Given the description of an element on the screen output the (x, y) to click on. 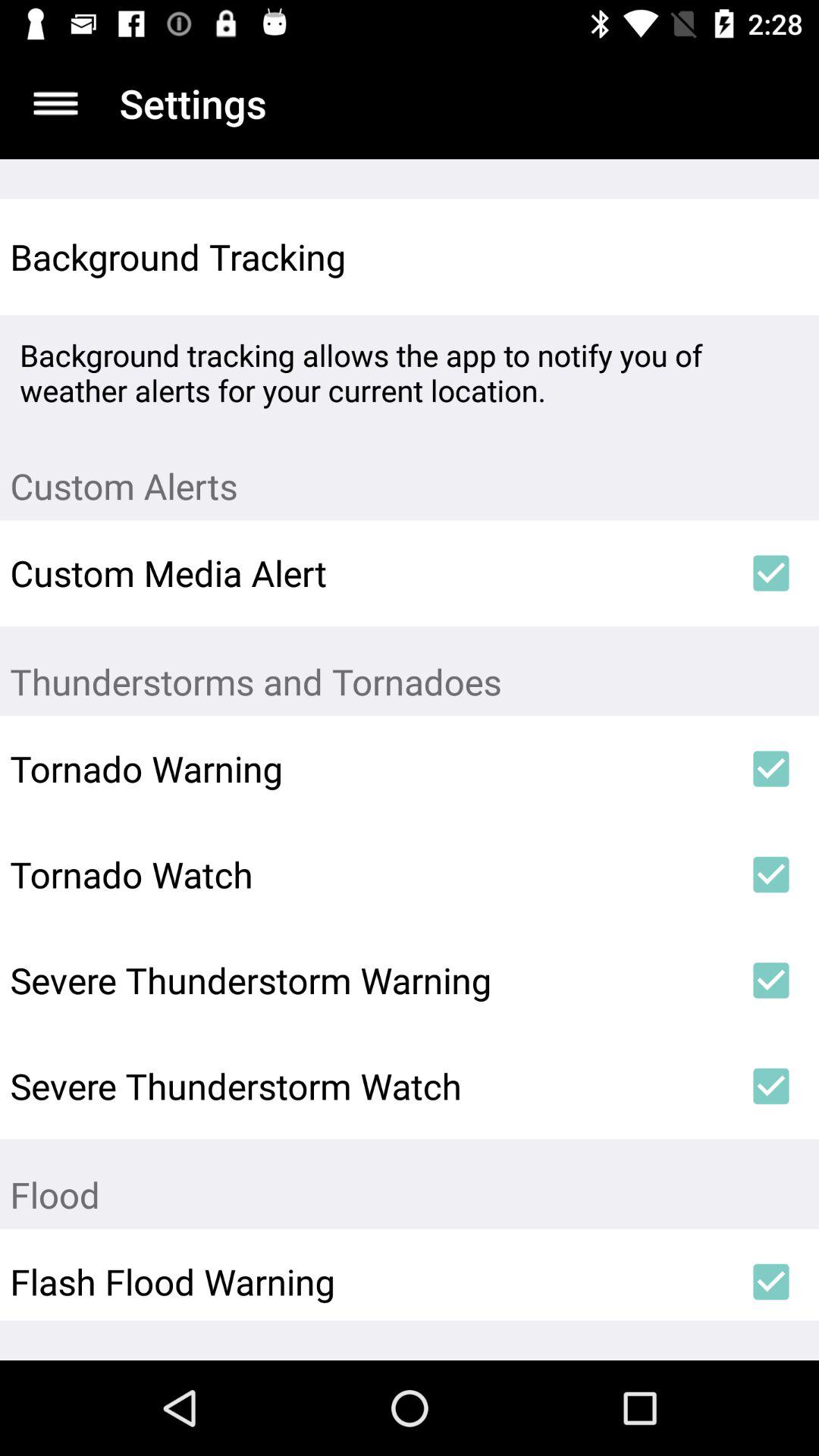
turn off icon to the right of flash flood warning item (771, 1281)
